Given the description of an element on the screen output the (x, y) to click on. 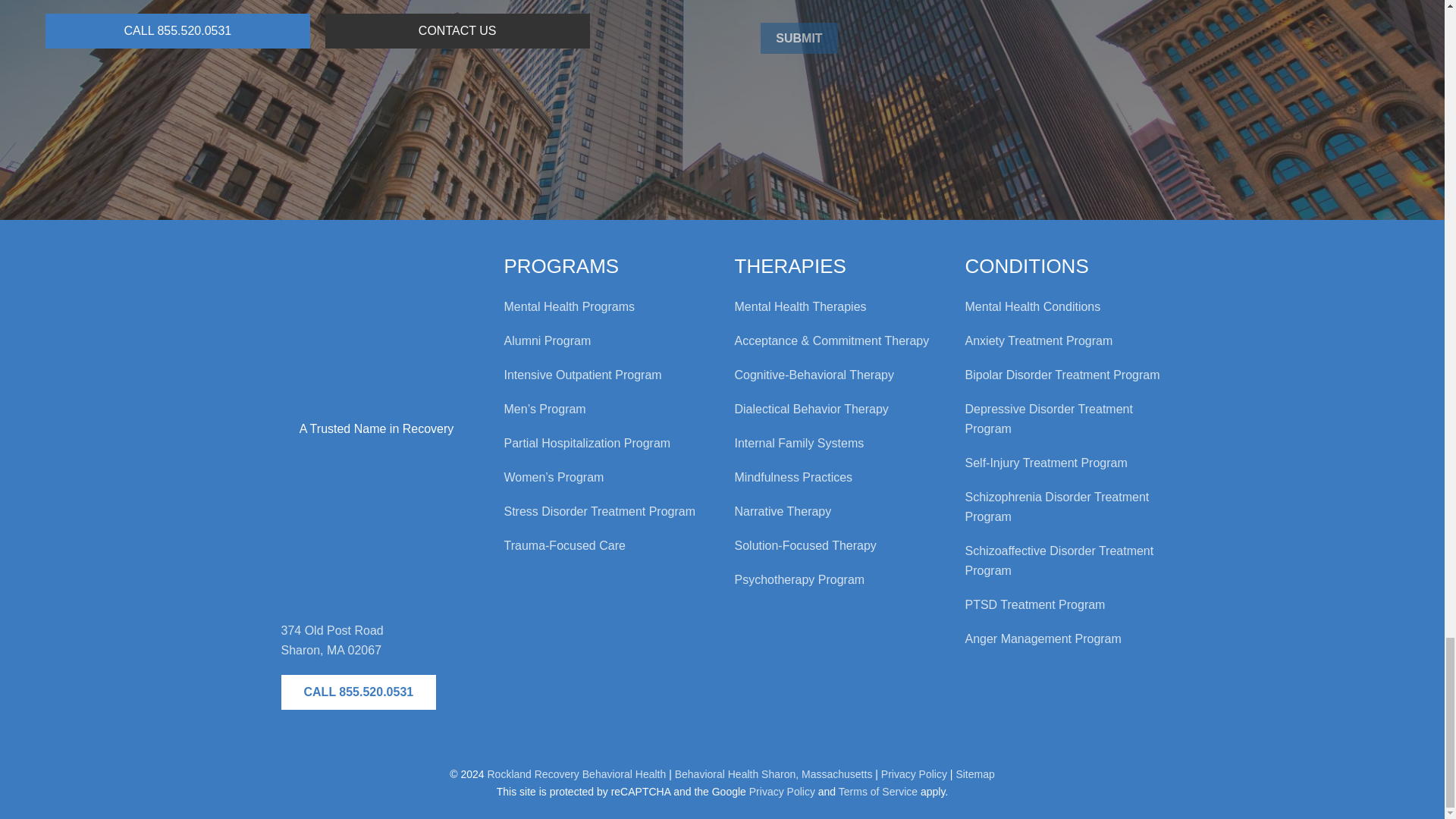
374 Old Post Road Sharon, MA 02067 (376, 530)
Submit (799, 38)
